Given the description of an element on the screen output the (x, y) to click on. 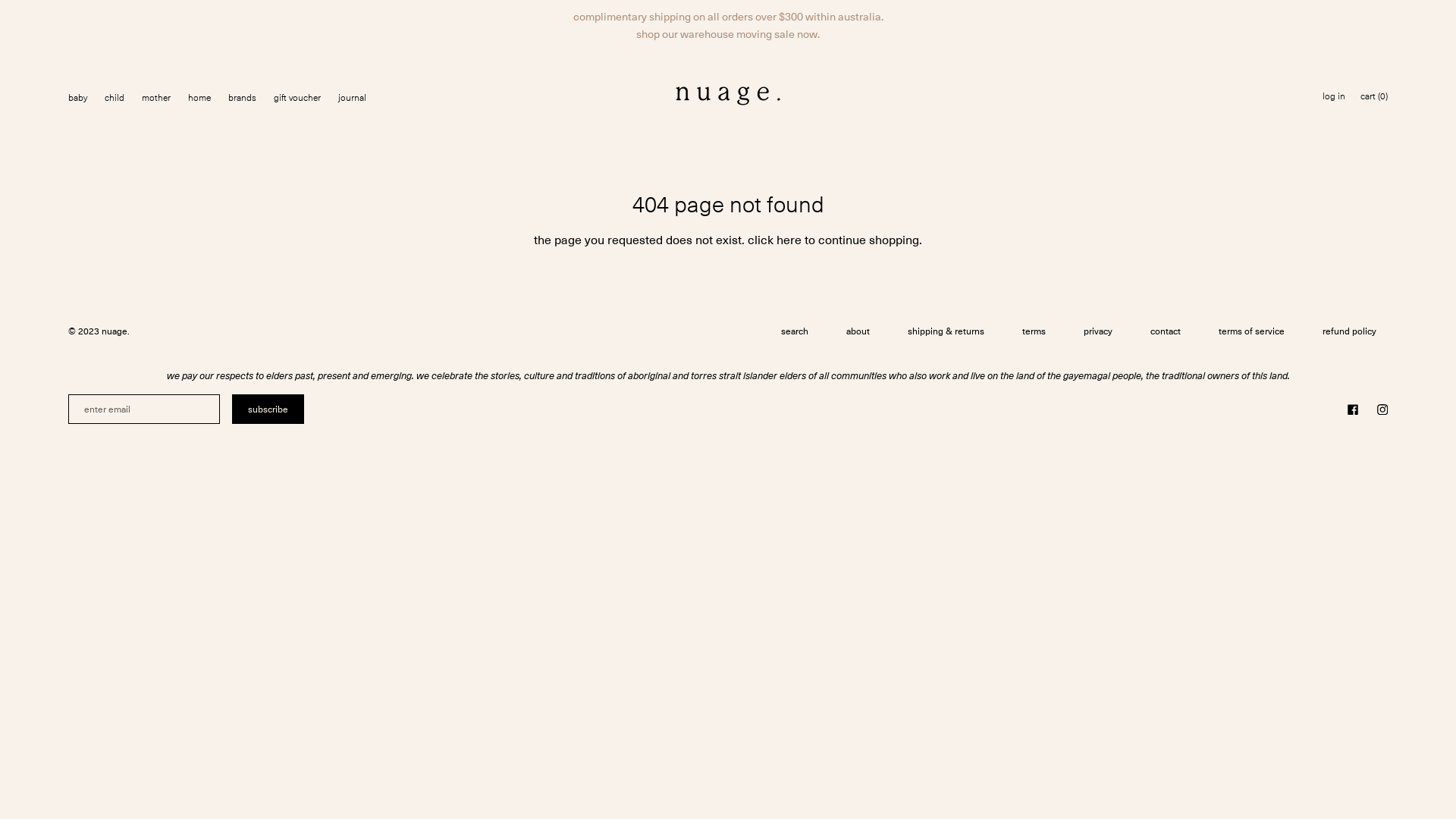
brands Element type: text (241, 98)
nuage. Element type: text (115, 330)
mother Element type: text (156, 98)
about Element type: text (857, 331)
instagram Element type: text (1382, 409)
shipping & returns Element type: text (945, 331)
search Element type: text (794, 331)
baby Element type: text (77, 98)
child Element type: text (114, 98)
privacy Element type: text (1097, 331)
refund policy Element type: text (1349, 331)
terms of service Element type: text (1251, 331)
gift voucher Element type: text (297, 98)
subscribe Element type: text (268, 408)
here Element type: text (788, 239)
journal Element type: text (351, 98)
home Element type: text (199, 98)
contact Element type: text (1165, 331)
cart (0) Element type: text (1373, 97)
log in Element type: text (1333, 97)
facebook Element type: text (1352, 409)
terms Element type: text (1033, 331)
